Given the description of an element on the screen output the (x, y) to click on. 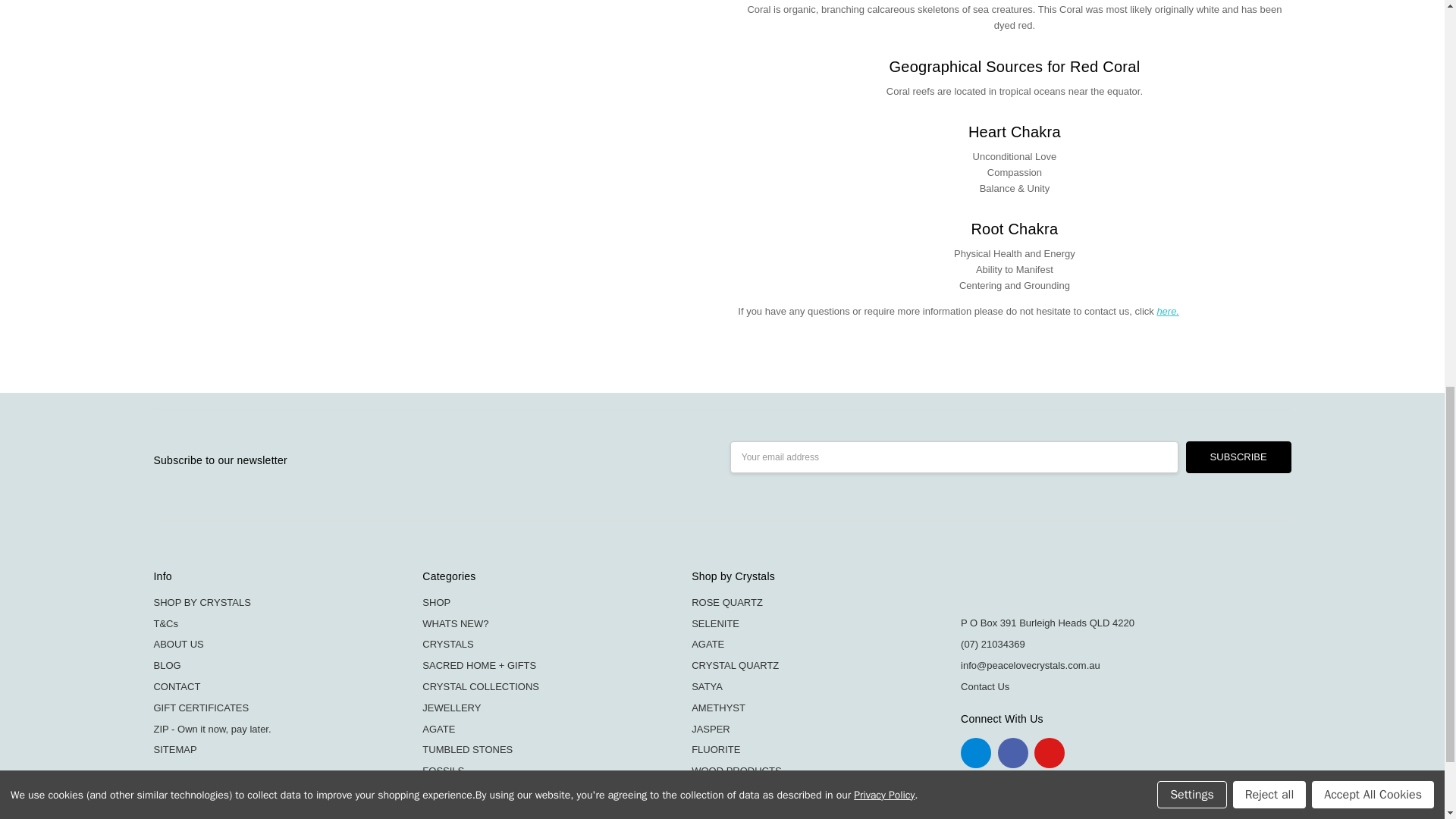
Peace Love Crystals (1055, 587)
Contact Us (1167, 310)
Subscribe (1238, 457)
